Given the description of an element on the screen output the (x, y) to click on. 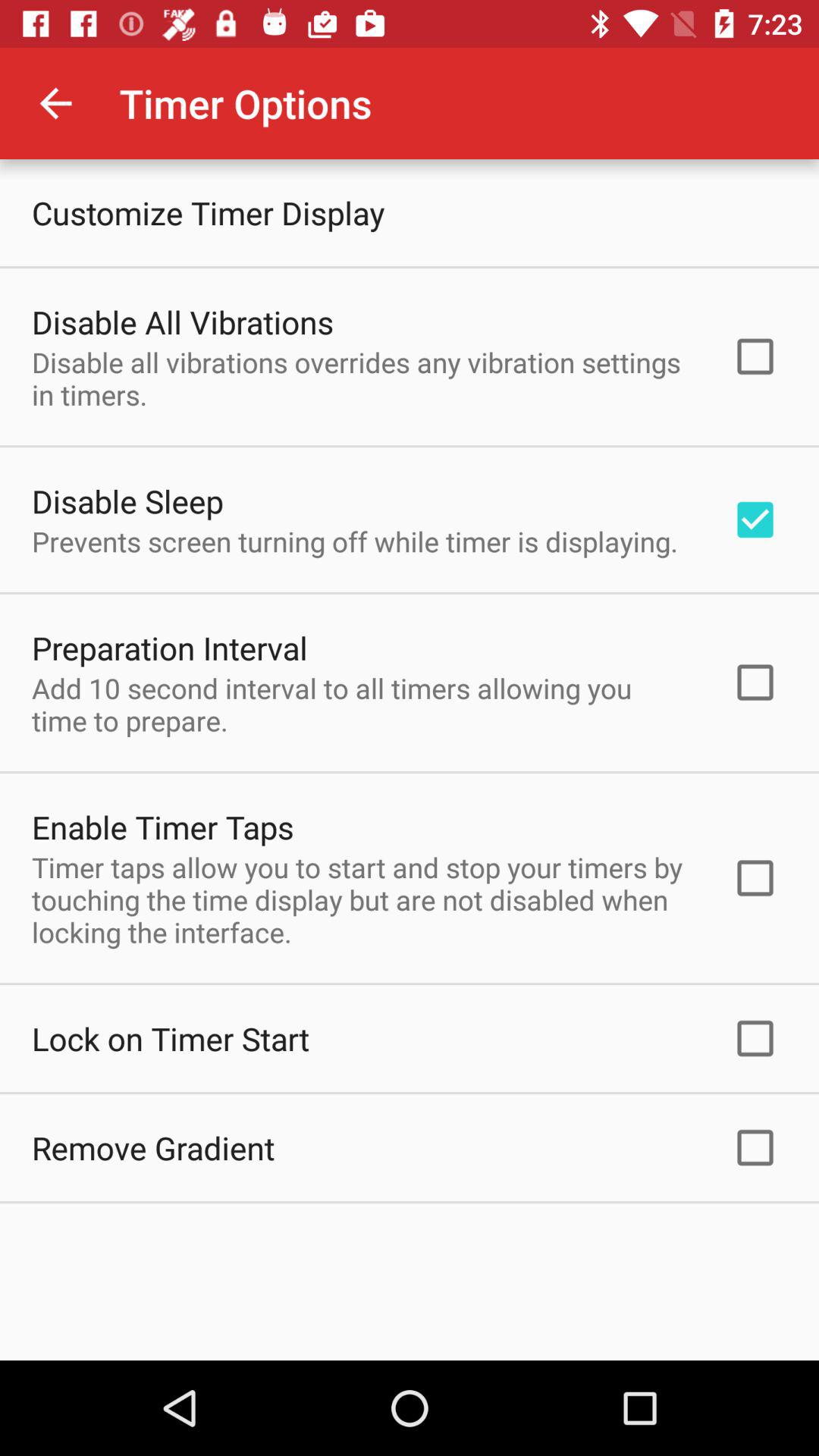
tap icon below timer taps allow item (170, 1038)
